Given the description of an element on the screen output the (x, y) to click on. 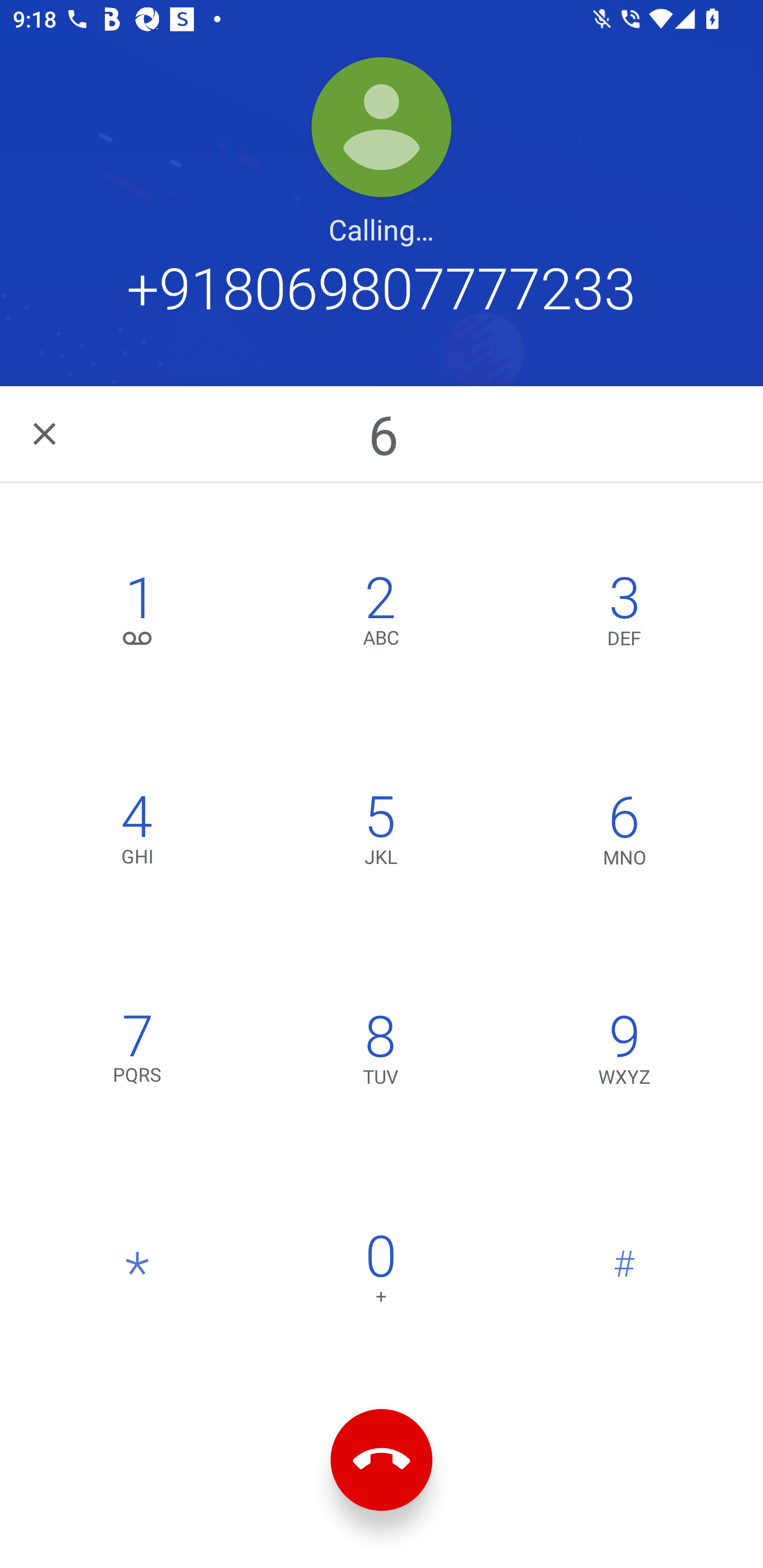
6 (382, 433)
Navigate back (45, 433)
1, 1 (137, 614)
2,ABC 2 ABC (380, 614)
3,DEF 3 DEF (624, 614)
4,GHI 4 GHI (137, 833)
5,JKL 5 JKL (380, 833)
6,MNO 6 MNO (624, 833)
7,PQRS 7 PQRS (137, 1053)
8,TUV 8 TUV (380, 1053)
9,WXYZ 9 WXYZ (624, 1053)
* (137, 1272)
0 0 + (380, 1272)
# (624, 1272)
End call (381, 1460)
